Given the description of an element on the screen output the (x, y) to click on. 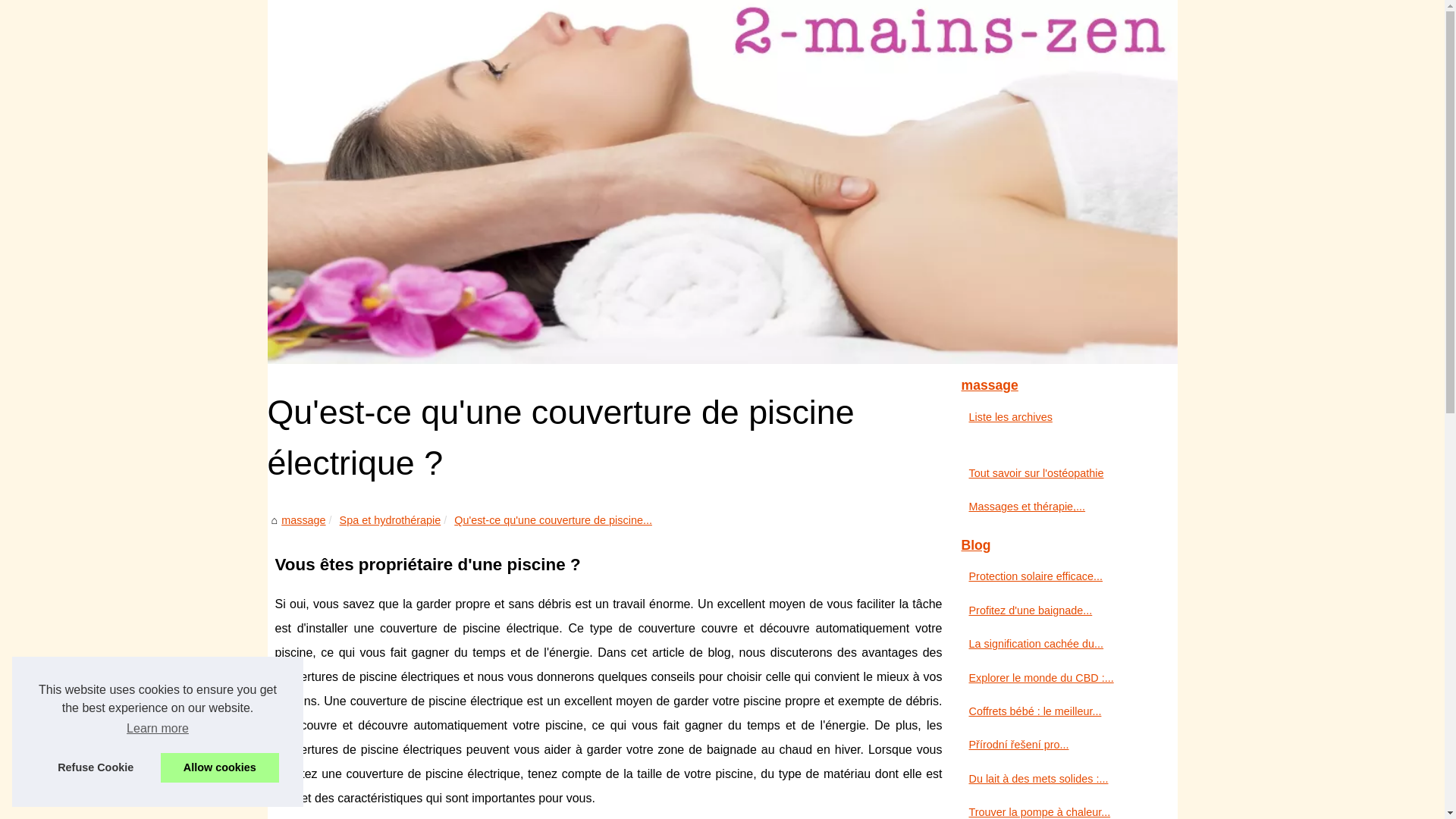
Profitez d'une baignade... Element type: text (1055, 610)
Refuse Cookie Element type: text (95, 767)
Allow cookies Element type: text (219, 767)
Blog Element type: text (1063, 545)
Liste les archives Element type: text (1055, 416)
Protection solaire efficace... Element type: text (1055, 576)
massage Element type: text (1063, 385)
Qu'est-ce qu'une couverture de piscine... Element type: text (553, 520)
massage Element type: hover (721, 182)
Explorer le monde du CBD :... Element type: text (1055, 677)
massage Element type: text (303, 520)
Learn more Element type: text (157, 728)
